Given the description of an element on the screen output the (x, y) to click on. 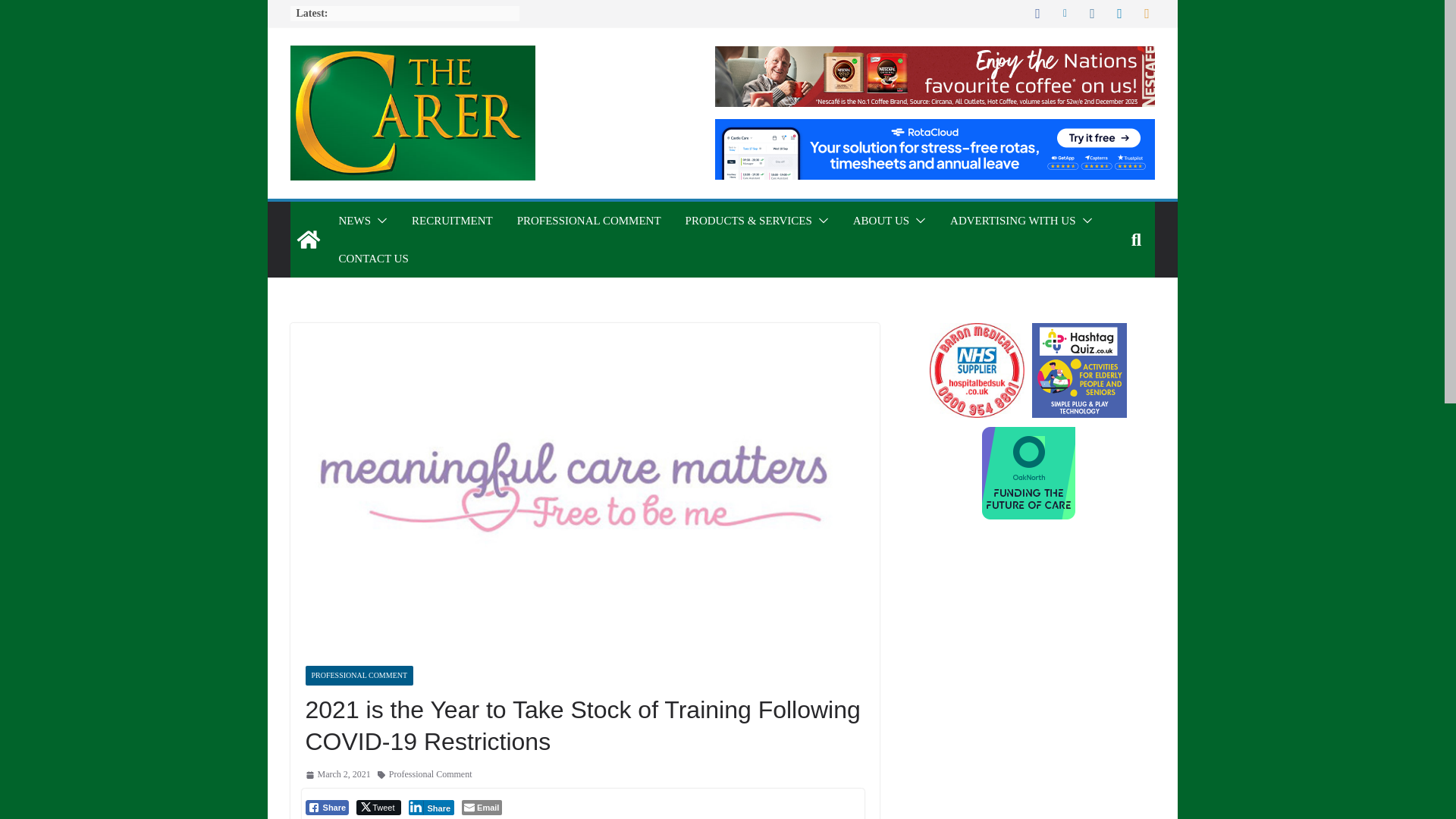
PROFESSIONAL COMMENT (588, 220)
NEWS (354, 220)
The Carer (307, 239)
5:40 pm (336, 774)
RECRUITMENT (452, 220)
